Given the description of an element on the screen output the (x, y) to click on. 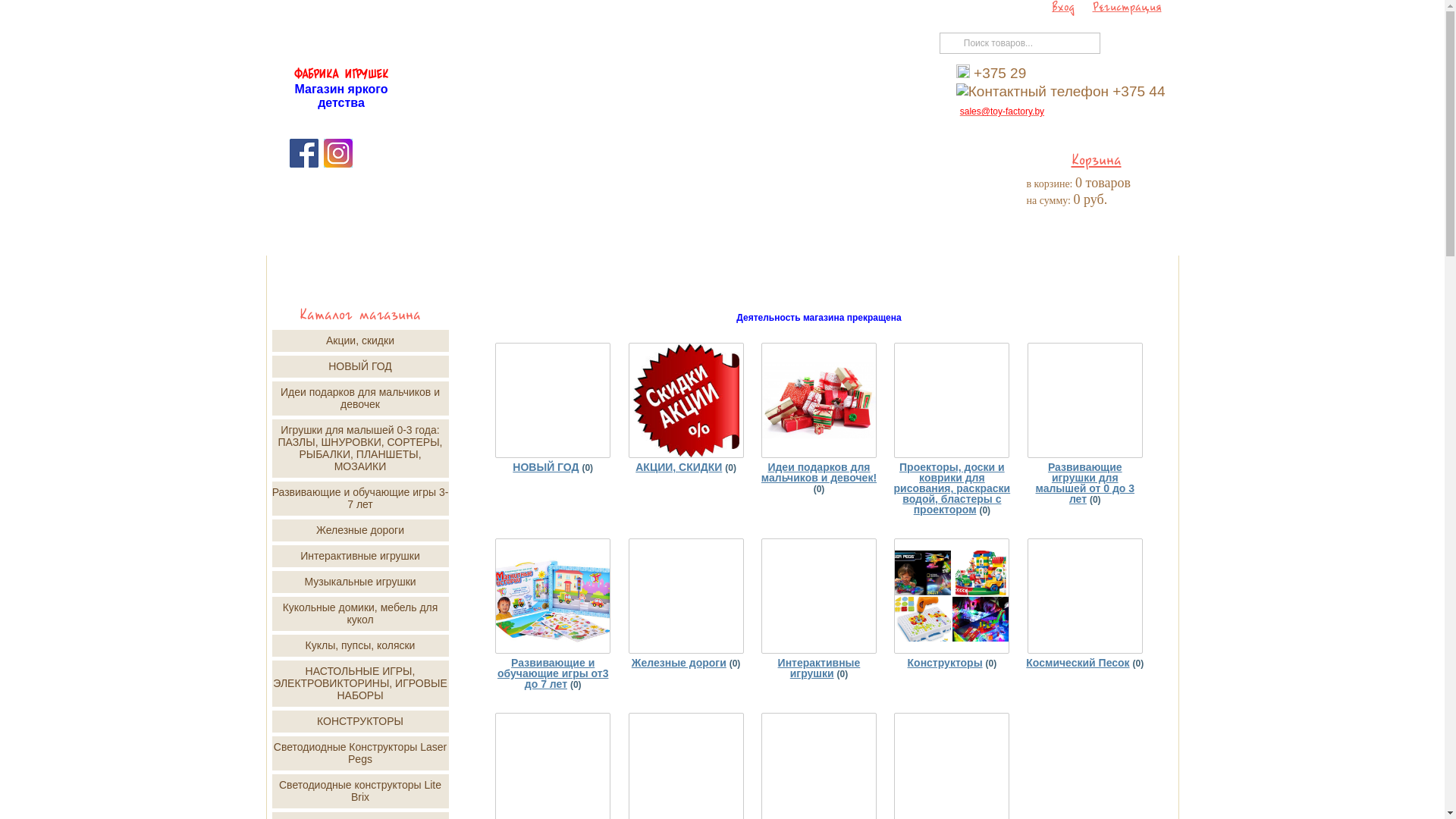
sales@toy-factory.by Element type: text (1002, 111)
